Given the description of an element on the screen output the (x, y) to click on. 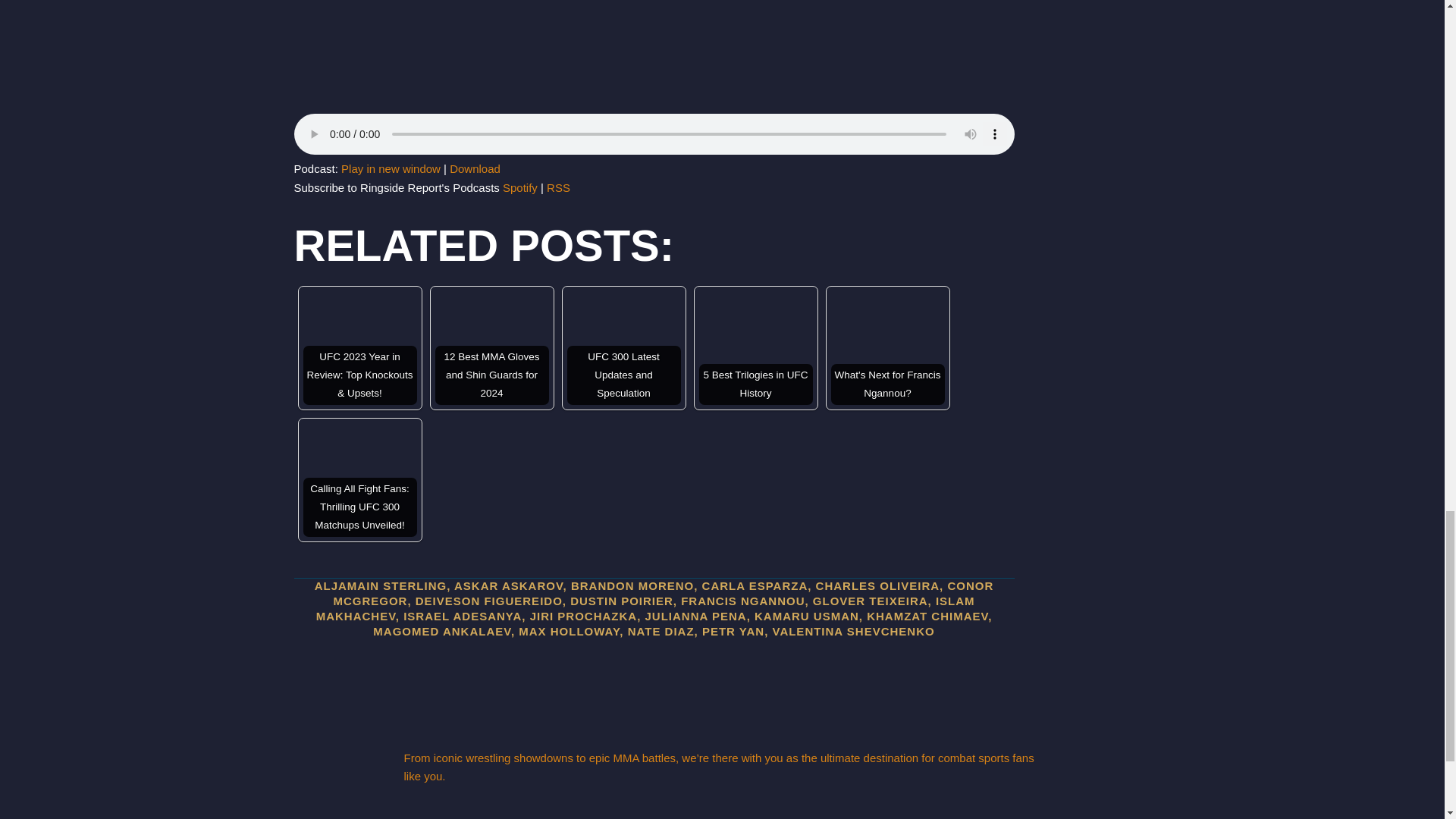
Download (474, 168)
UFC 300 Latest Updates and Speculation (624, 347)
Play in new window (390, 168)
Subscribe via RSS (558, 187)
Play in new window (390, 168)
Spotify (519, 187)
Download (474, 168)
Calling All Fight Fans: Thrilling UFC 300 Matchups Unveiled! (359, 480)
UFC 300 Latest Updates and Speculation (624, 347)
12 Best MMA Gloves and Shin Guards for 2024 (491, 347)
